Given the description of an element on the screen output the (x, y) to click on. 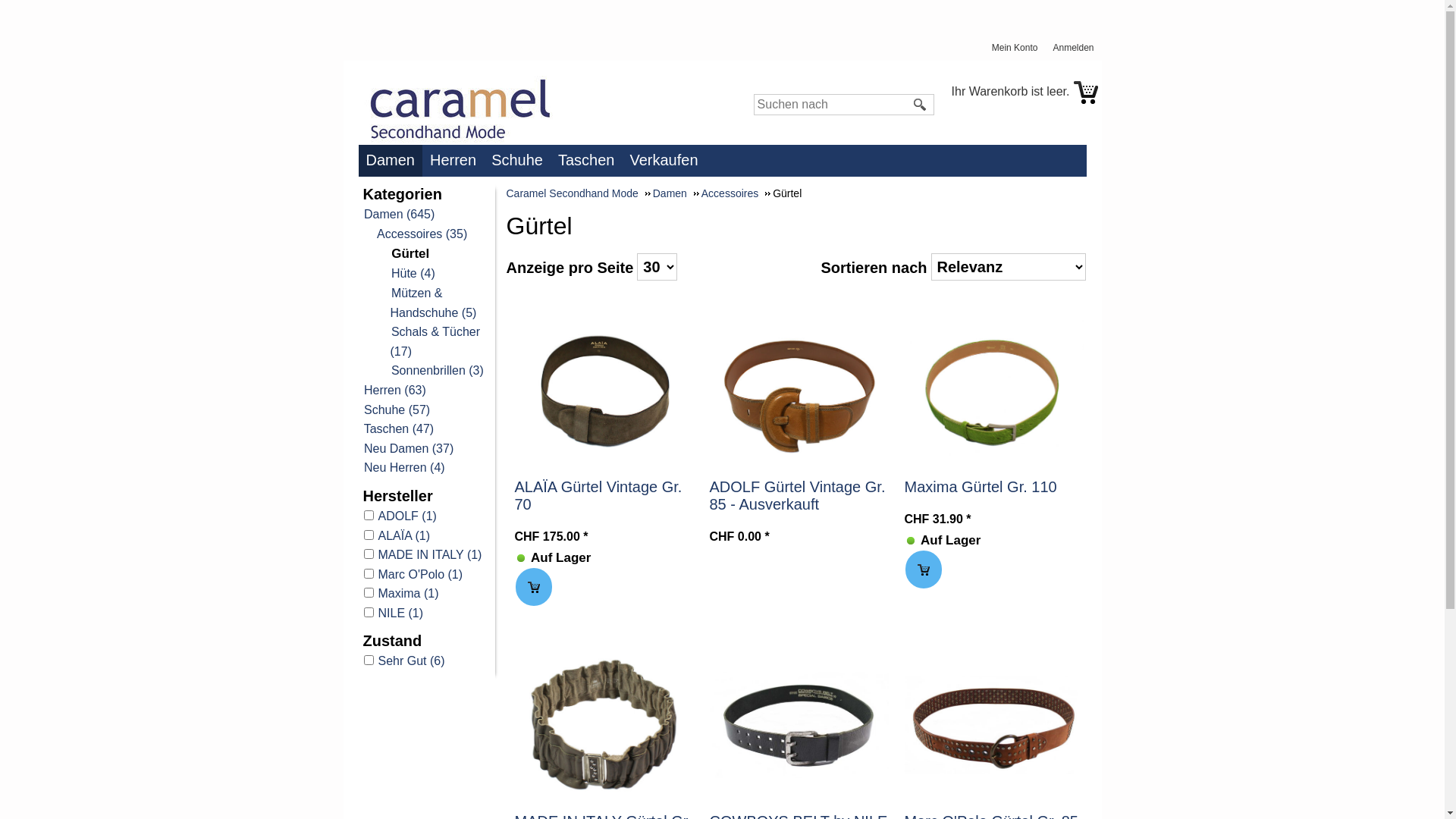
Zum Produkt Element type: hover (603, 389)
Accessoires (35) Element type: text (421, 233)
ADOLF (1) Element type: text (425, 516)
Neu Damen (37) Element type: text (407, 448)
Schuhe Element type: text (520, 159)
Auf Lager Element type: hover (909, 540)
Sonnenbrillen (3) Element type: text (436, 370)
Damen (645) Element type: text (398, 213)
Neu Herren (4) Element type: text (403, 467)
Zum Produkt Element type: hover (992, 390)
Zum Produkt Element type: hover (603, 725)
Marc O'Polo (1) Element type: text (425, 574)
In den Warenkorb Element type: hover (533, 586)
Maxima (1) Element type: text (425, 593)
Damen Element type: text (675, 193)
Herren Element type: text (456, 159)
Damen Element type: text (392, 160)
Taschen (47) Element type: text (397, 428)
Zum Produkt Element type: hover (798, 724)
Suche starten Element type: hover (920, 104)
Taschen Element type: text (590, 159)
Auf Lager Element type: hover (520, 558)
Zum Produkt Element type: hover (798, 390)
Mein Konto Element type: text (1018, 47)
Sehr Gut (6) Element type: text (425, 661)
In den Warenkorb Element type: hover (923, 569)
MADE IN ITALY (1) Element type: text (425, 554)
Anmelden Element type: text (1076, 47)
Schuhe (57) Element type: text (395, 409)
Zum Produkt Element type: hover (992, 724)
NILE (1) Element type: text (425, 613)
Caramel Secondhand Mode Element type: text (578, 193)
Accessoires Element type: text (735, 193)
Verkaufen Element type: text (667, 159)
Herren (63) Element type: text (393, 389)
